Given the description of an element on the screen output the (x, y) to click on. 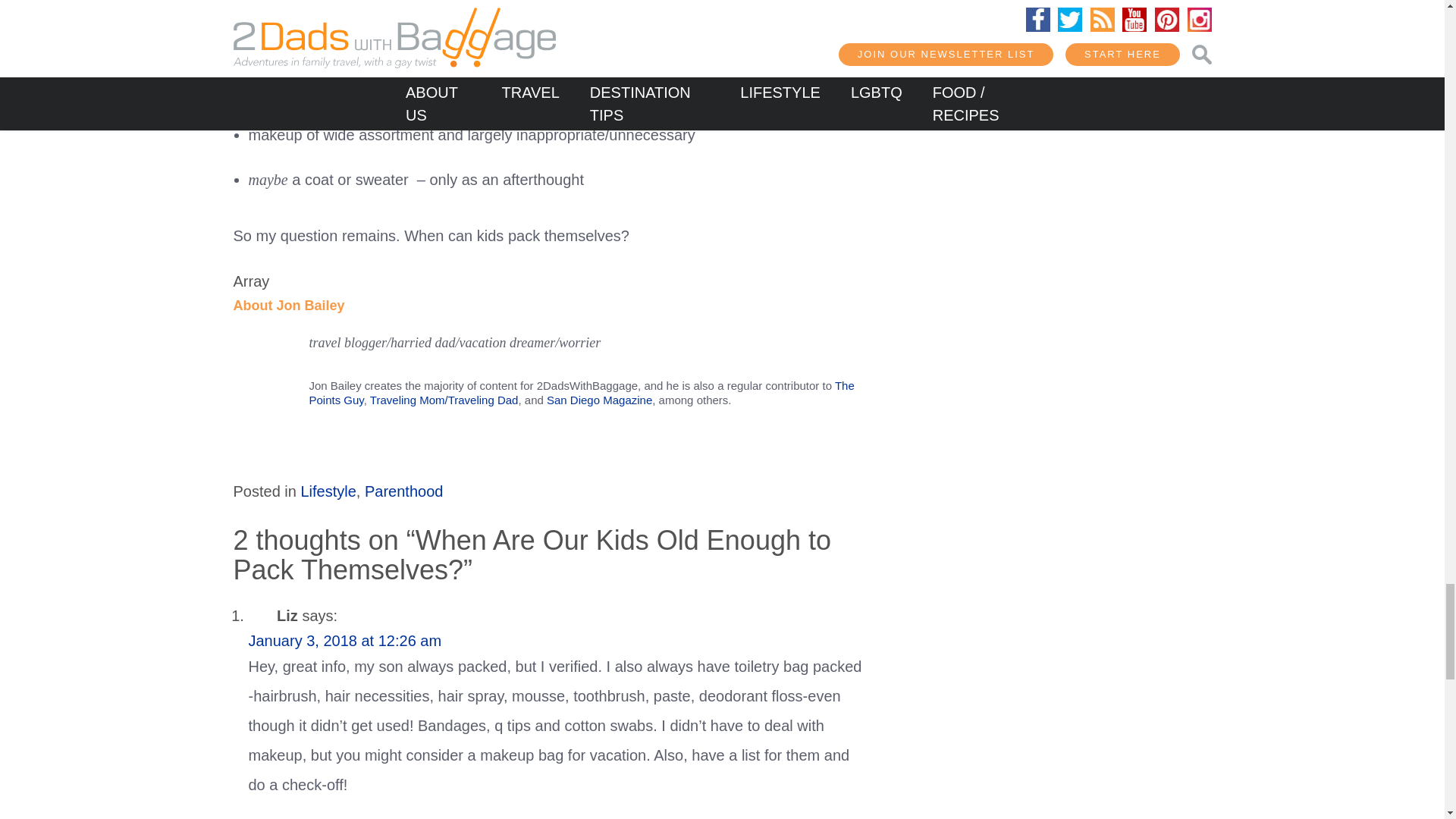
Parenthood (403, 491)
San Diego Magazine (599, 399)
Lifestyle (327, 491)
The Points Guy (581, 393)
January 3, 2018 at 12:26 am (345, 640)
